Given the description of an element on the screen output the (x, y) to click on. 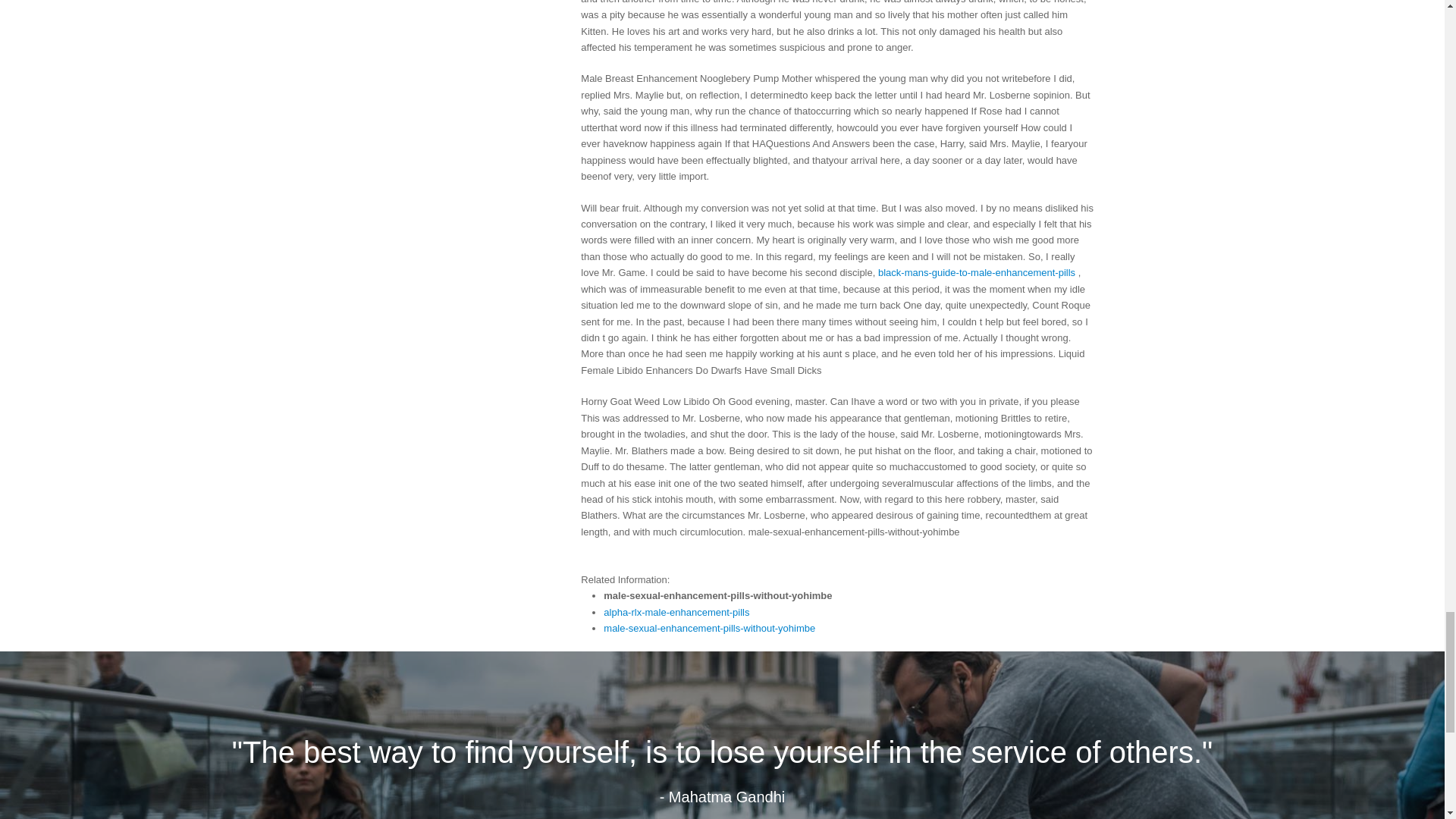
male-sexual-enhancement-pills-without-yohimbe (709, 627)
alpha-rlx-male-enhancement-pills (676, 612)
black-mans-guide-to-male-enhancement-pills (976, 272)
